Given the description of an element on the screen output the (x, y) to click on. 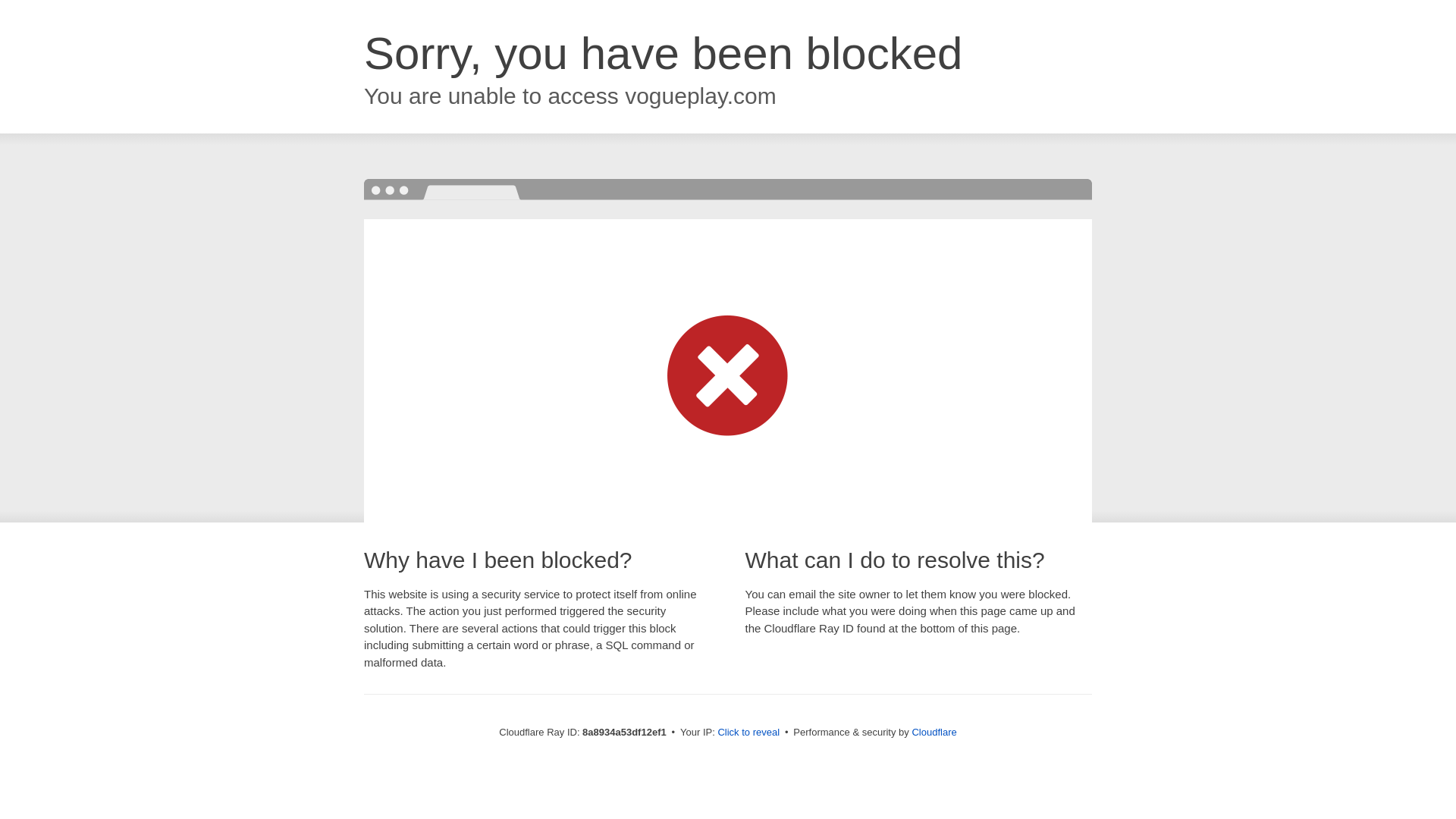
Cloudflare (933, 731)
Click to reveal (747, 732)
